Given the description of an element on the screen output the (x, y) to click on. 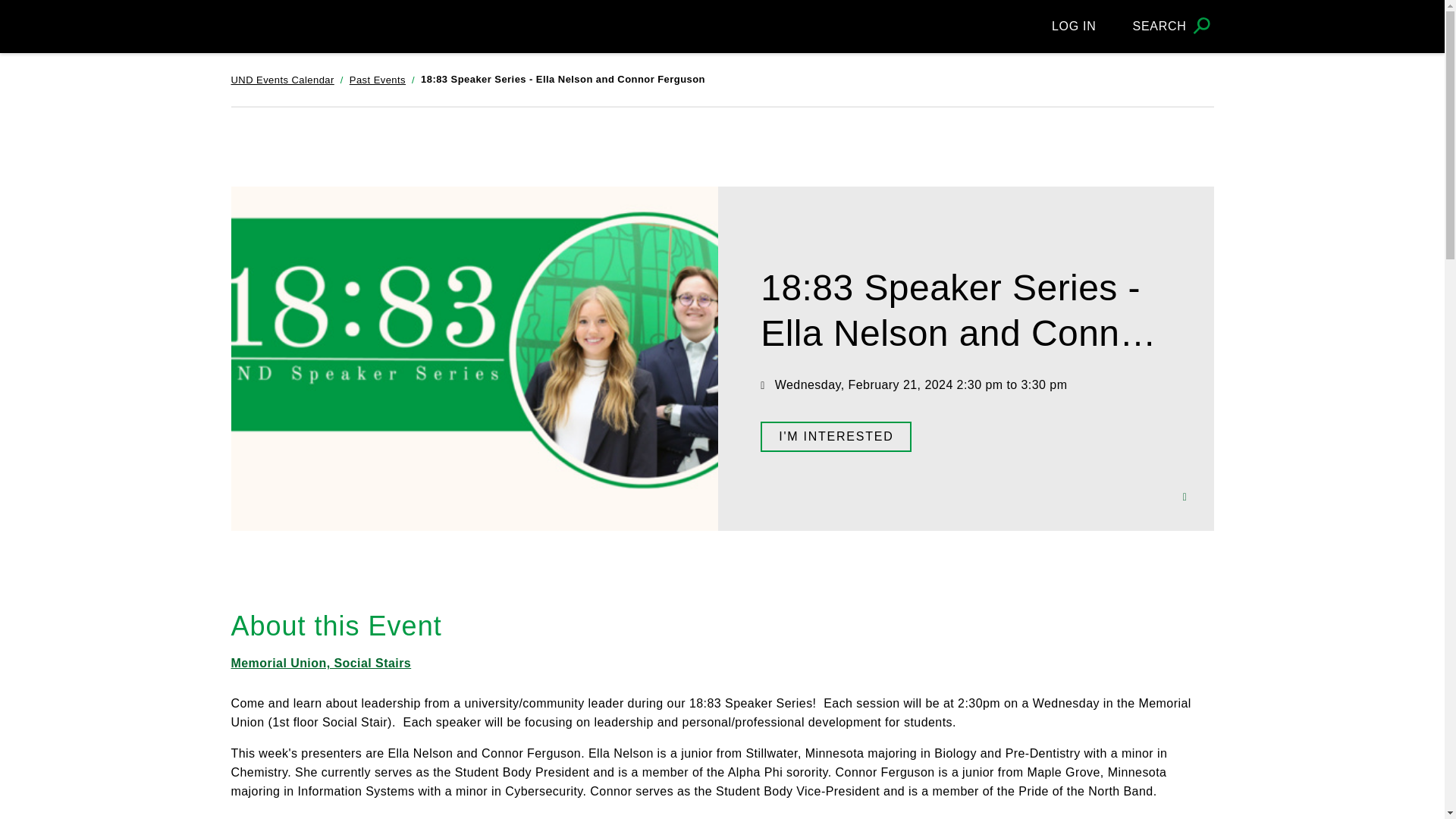
Past Events (377, 79)
LOG IN (1073, 26)
UND Events Calendar (281, 79)
SEARCH (1173, 26)
Memorial Union, Social Stairs (328, 662)
I'M INTERESTED (835, 436)
